Given the description of an element on the screen output the (x, y) to click on. 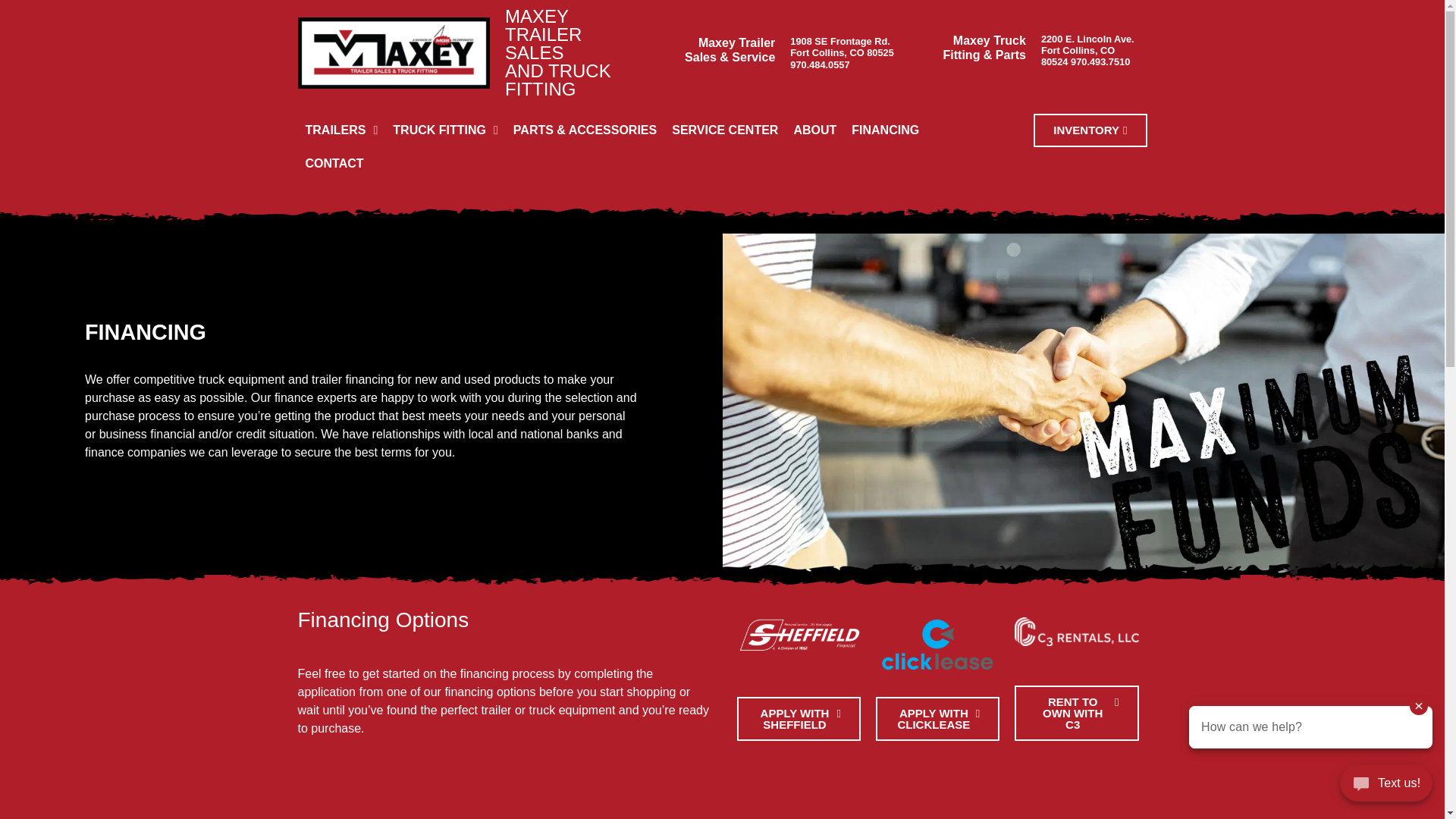
2200 E. Lincoln Ave. Fort Collins, CO 80524 (1087, 50)
TRAILERS (341, 130)
1908 SE Frontage Rd. Fort Collins, CO 80525 (841, 47)
970.484.0557 (819, 64)
970.493.7510 (1099, 61)
